Given the description of an element on the screen output the (x, y) to click on. 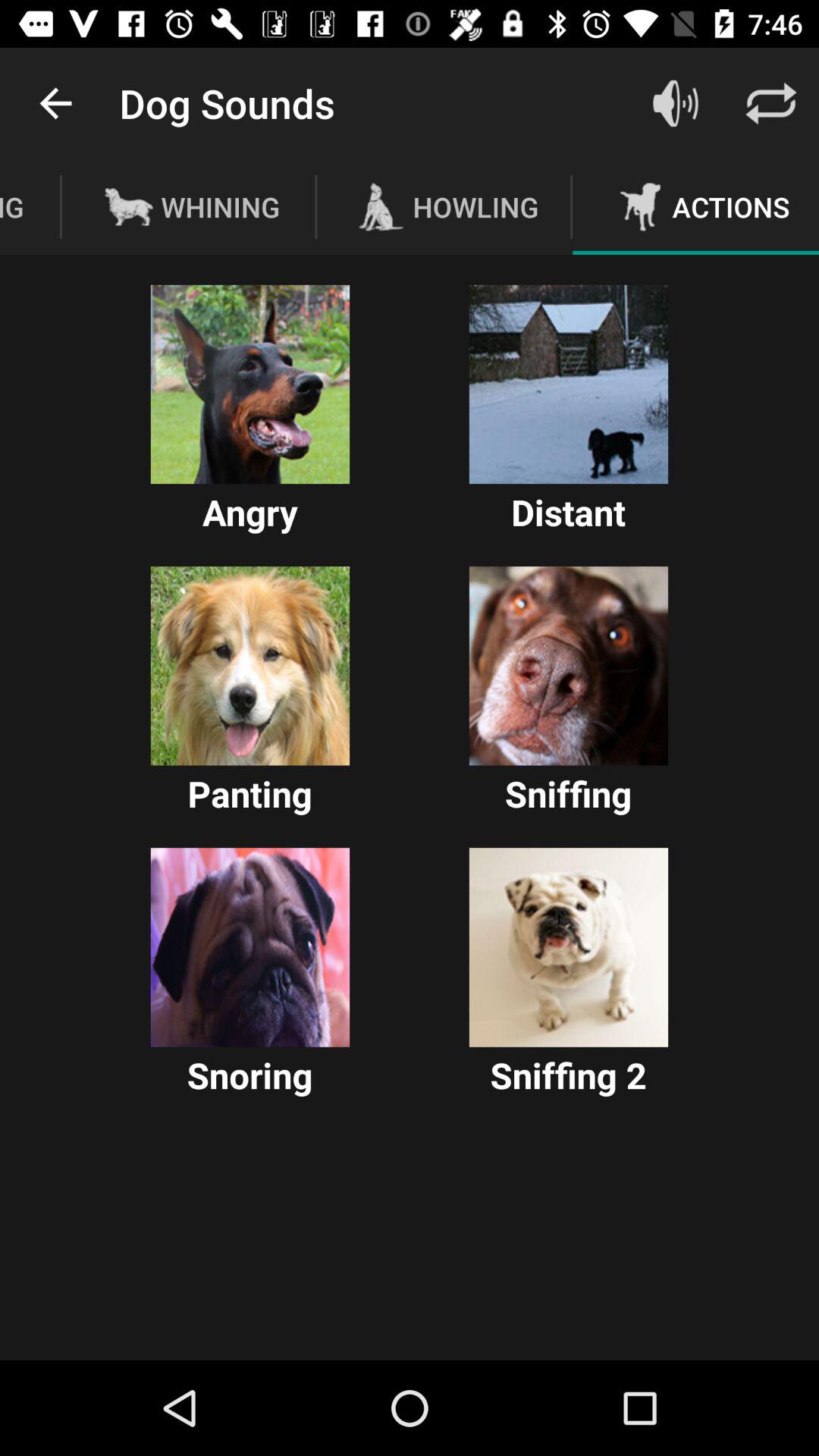
select sound (249, 384)
